Given the description of an element on the screen output the (x, y) to click on. 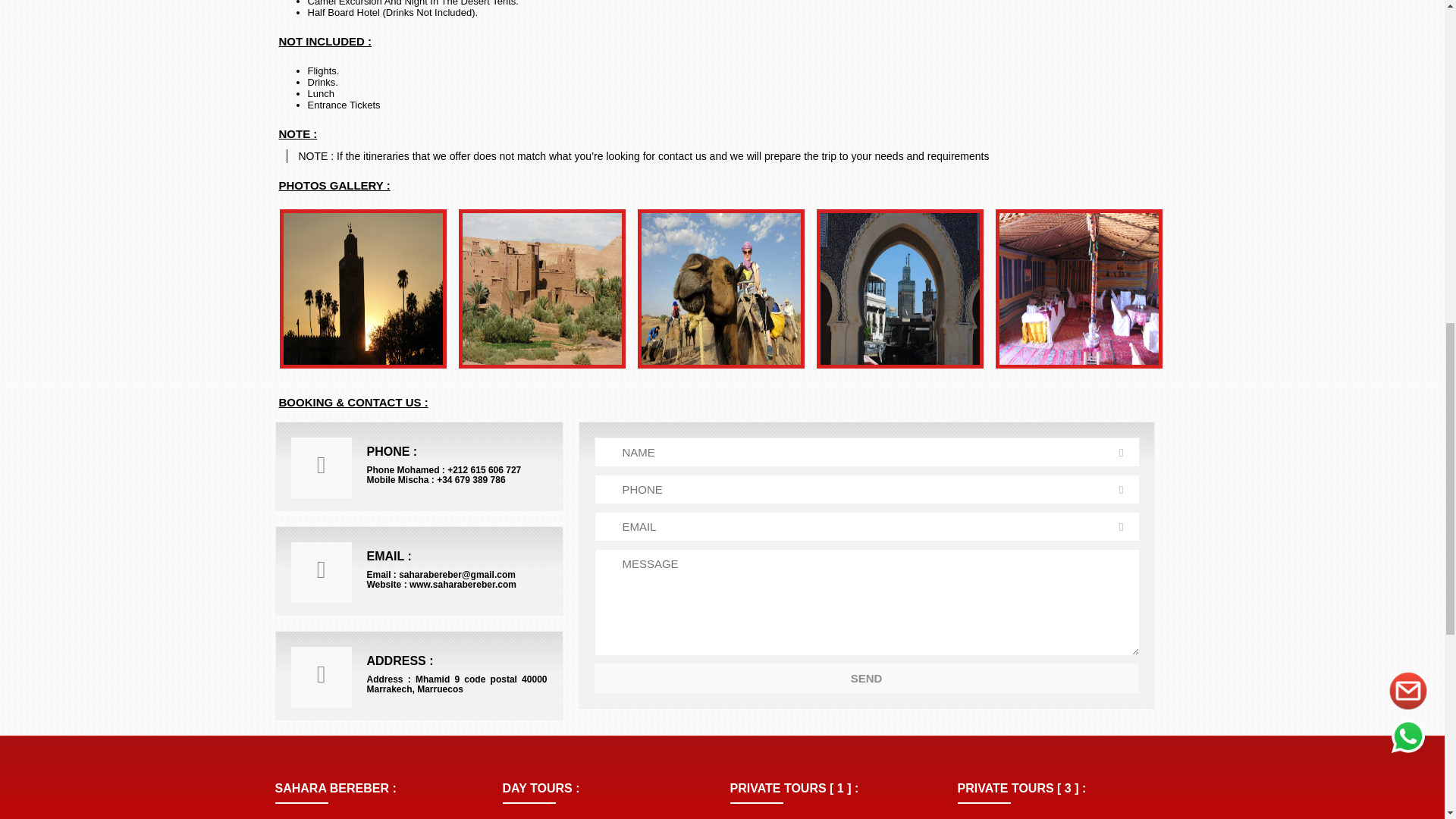
zoom (898, 288)
zoom (720, 288)
SEND (866, 677)
zoom (541, 288)
zoom (362, 288)
zoom (1077, 288)
